Given the description of an element on the screen output the (x, y) to click on. 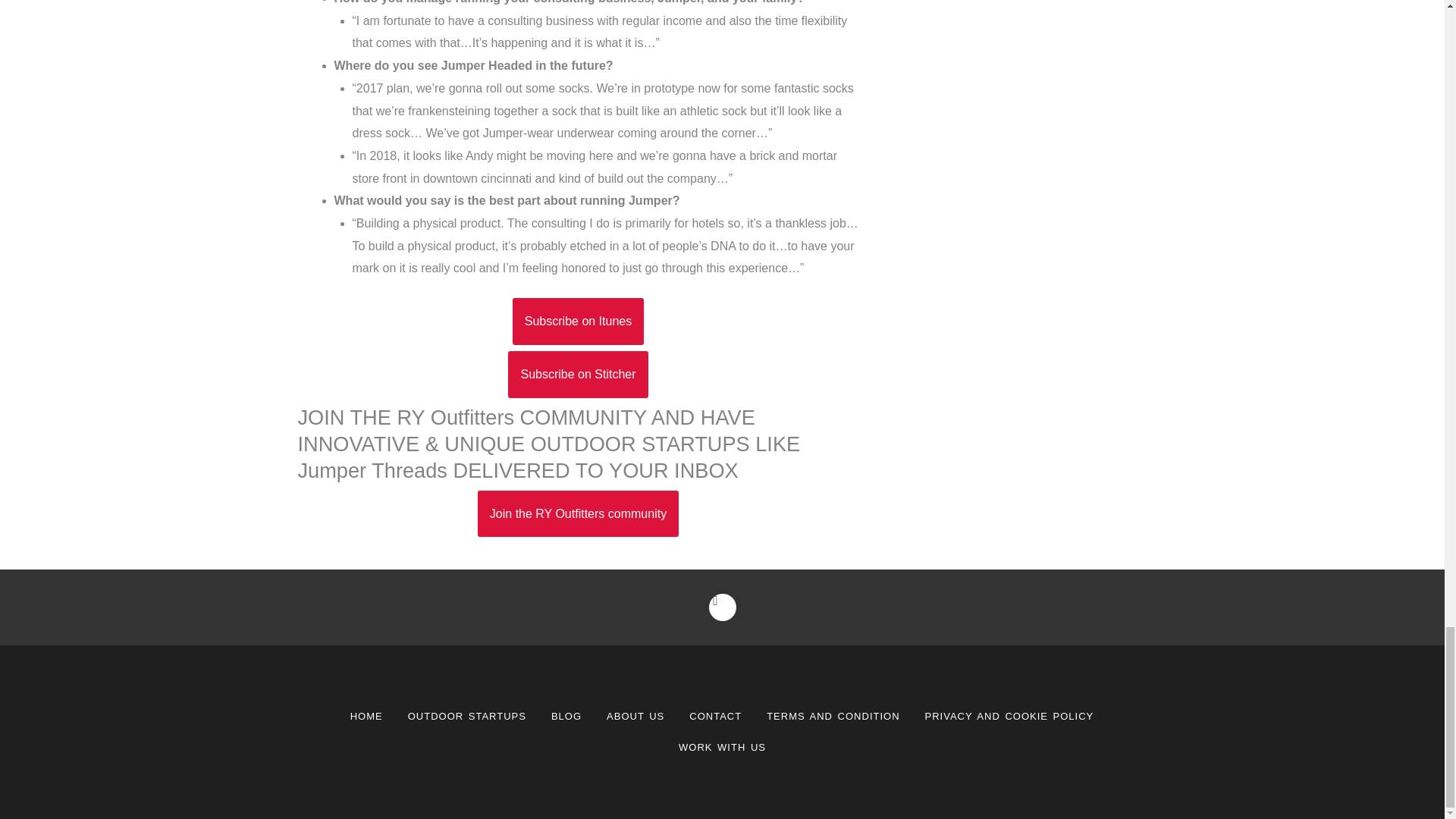
HOME (365, 716)
Subscribe on Itunes (577, 321)
Subscribe on Stitcher (577, 374)
BLOG (566, 716)
WORK WITH US (721, 747)
Join the RY Outfitters community (577, 513)
TERMS AND CONDITION (832, 716)
ABOUT US (635, 716)
OUTDOOR STARTUPS (467, 716)
CONTACT (715, 716)
PRIVACY AND COOKIE POLICY (1009, 716)
